Given the description of an element on the screen output the (x, y) to click on. 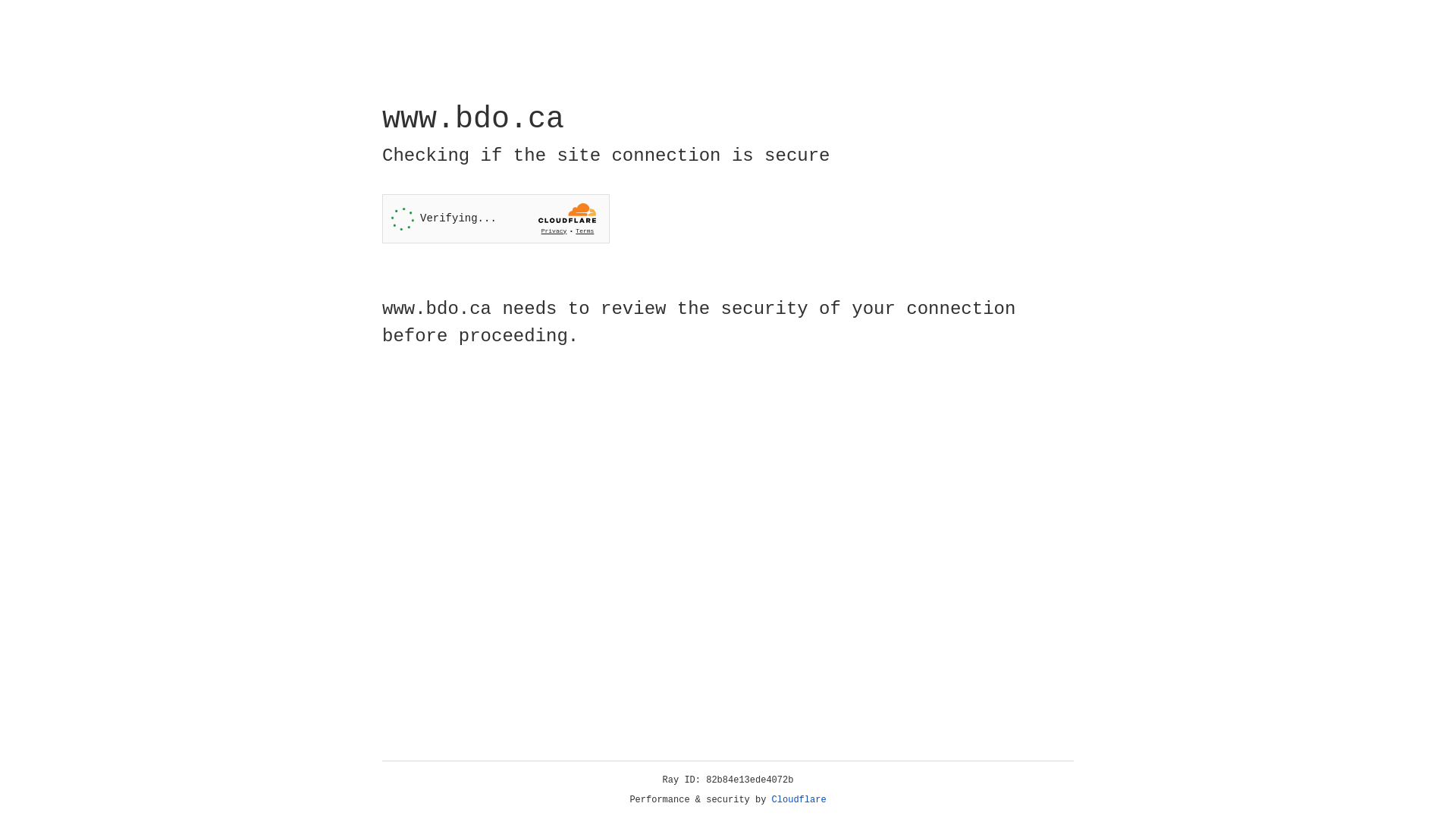
Cloudflare Element type: text (798, 799)
Widget containing a Cloudflare security challenge Element type: hover (495, 218)
